Given the description of an element on the screen output the (x, y) to click on. 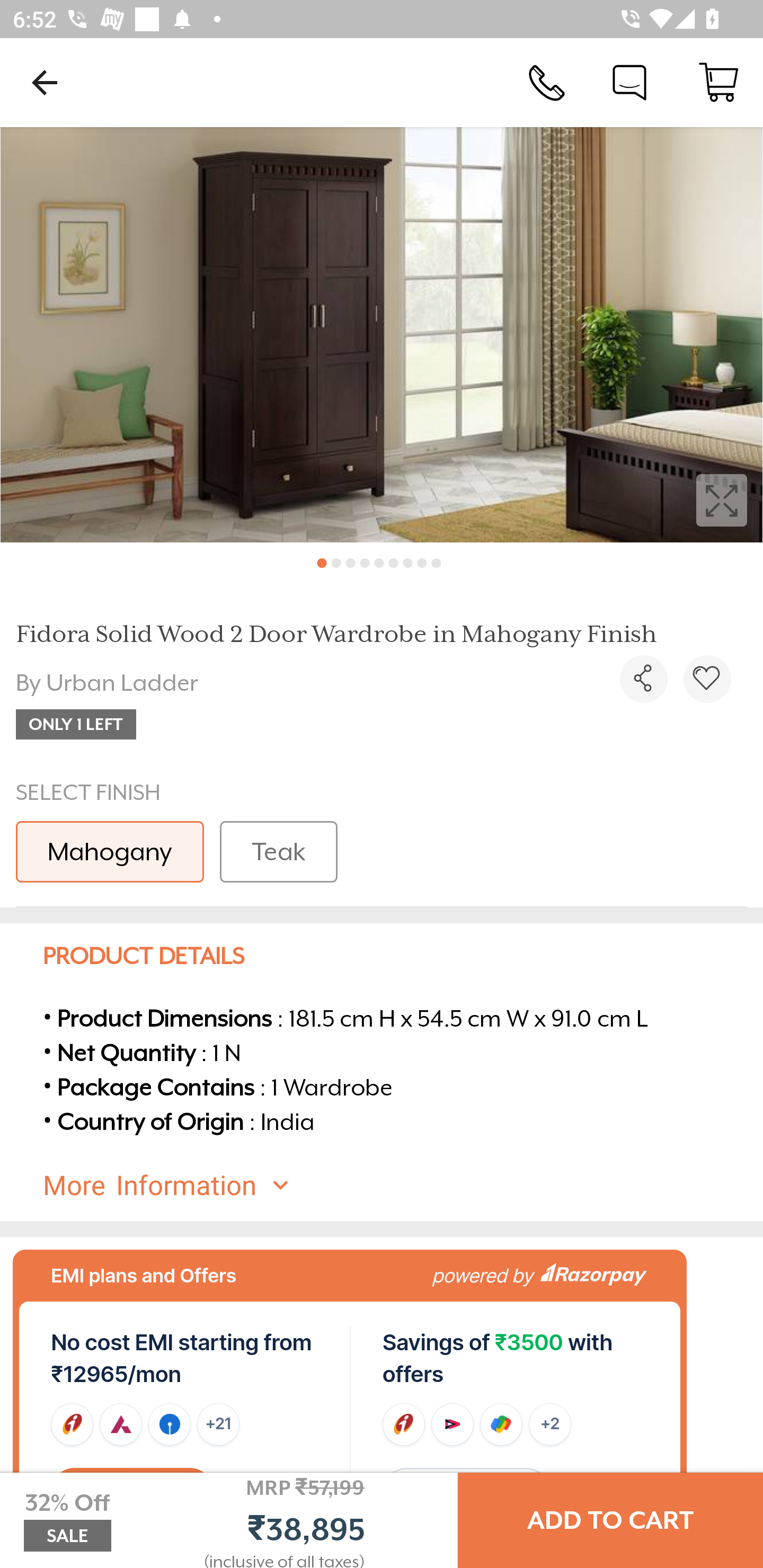
Navigate up (44, 82)
Call Us (546, 81)
Chat (629, 81)
Cart (718, 81)
 (381, 334)
 (643, 678)
 (706, 678)
Mahogany (109, 851)
Teak (278, 851)
More Information  (396, 1185)
ADD TO CART (610, 1520)
